Given the description of an element on the screen output the (x, y) to click on. 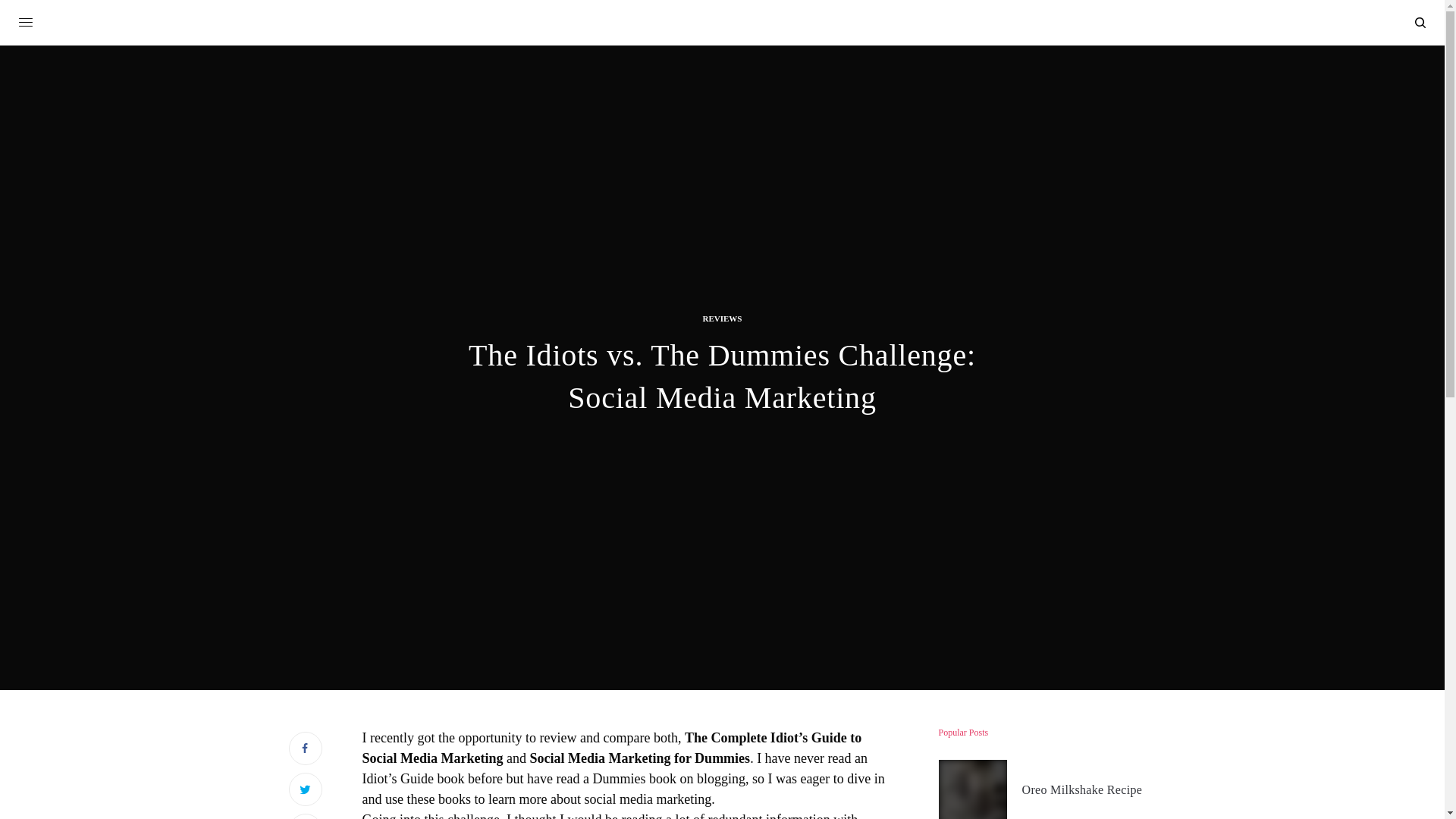
About a Mom (722, 24)
Oreo Milkshake Recipe (1082, 790)
Oreo Milkshake Recipe (1082, 790)
REVIEWS (721, 318)
